Given the description of an element on the screen output the (x, y) to click on. 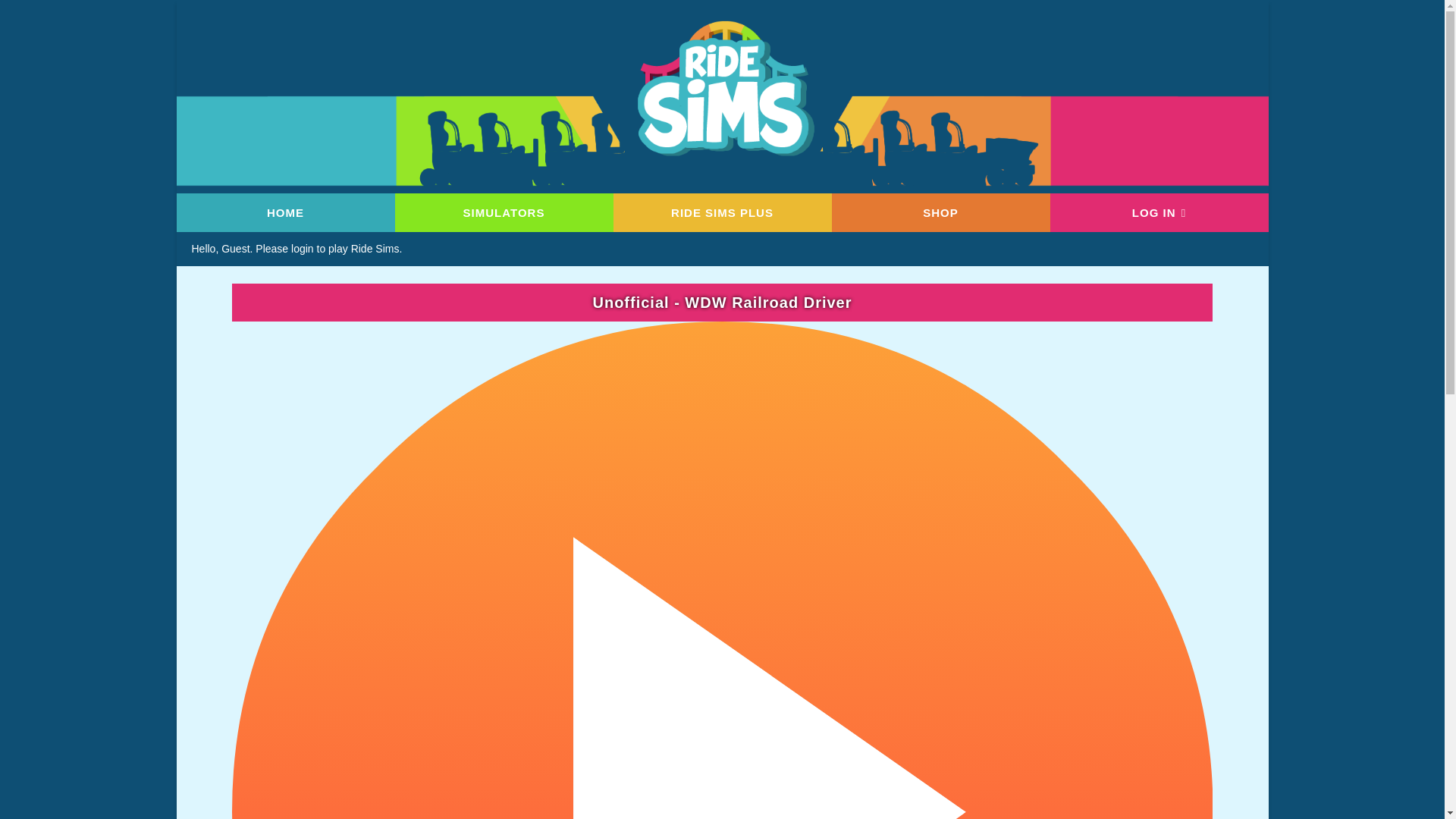
HOME (285, 212)
RIDE SIMS PLUS (721, 212)
login (302, 248)
SIMULATORS (503, 212)
SHOP (940, 212)
